Given the description of an element on the screen output the (x, y) to click on. 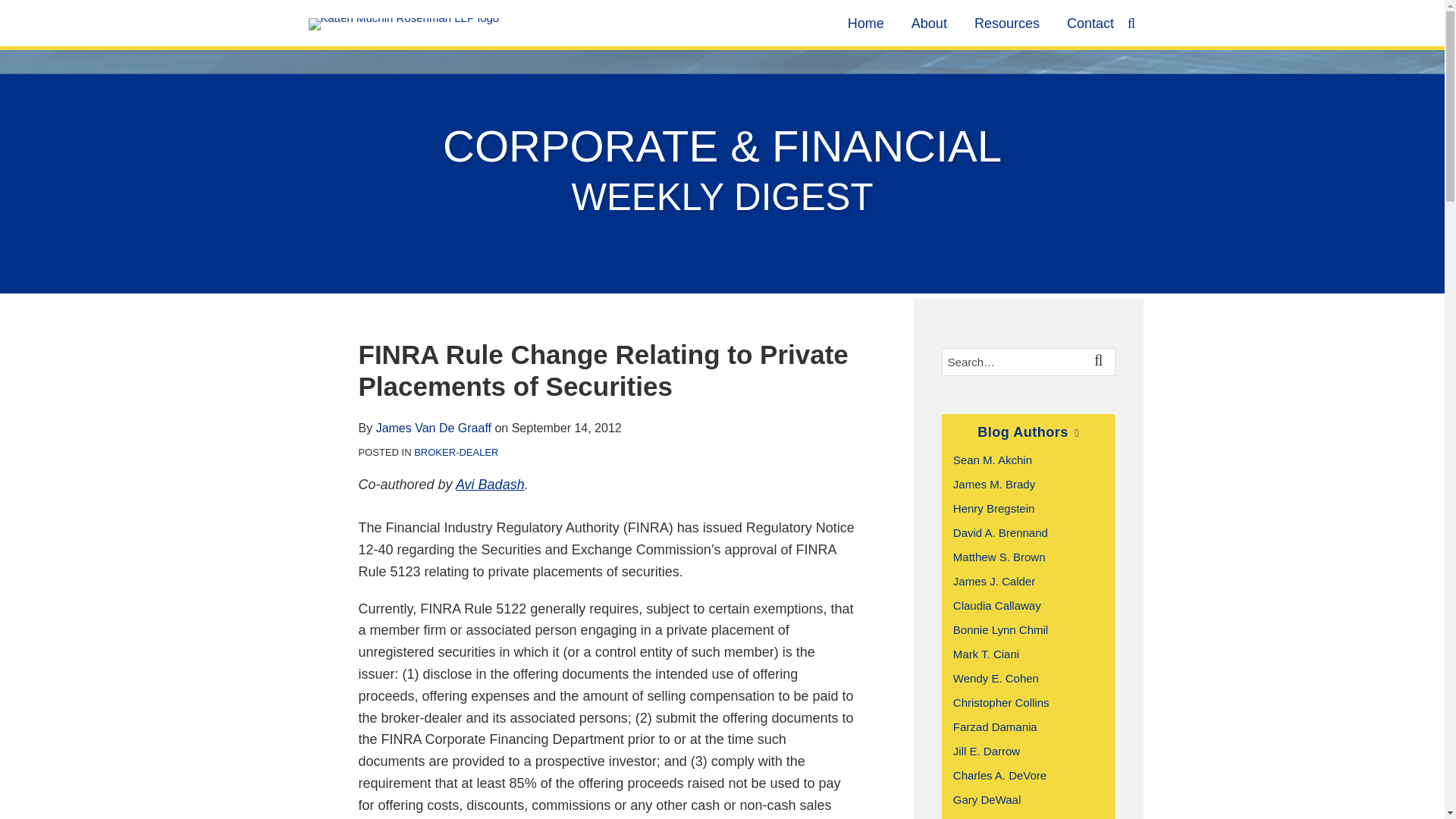
Henry Bregstein (994, 508)
Jill E. Darrow (986, 750)
Wendy E. Cohen (996, 677)
BROKER-DEALER (455, 451)
Avi Badash (489, 484)
Contact (1090, 23)
Gary DeWaal (986, 799)
David A. Brennand (1000, 532)
Bonnie Lynn Chmil (1000, 629)
James M. Brady (994, 483)
Charles A. DeVore (999, 775)
Resources (1006, 23)
About (929, 23)
Claudia Callaway (997, 604)
James J. Calder (994, 581)
